Given the description of an element on the screen output the (x, y) to click on. 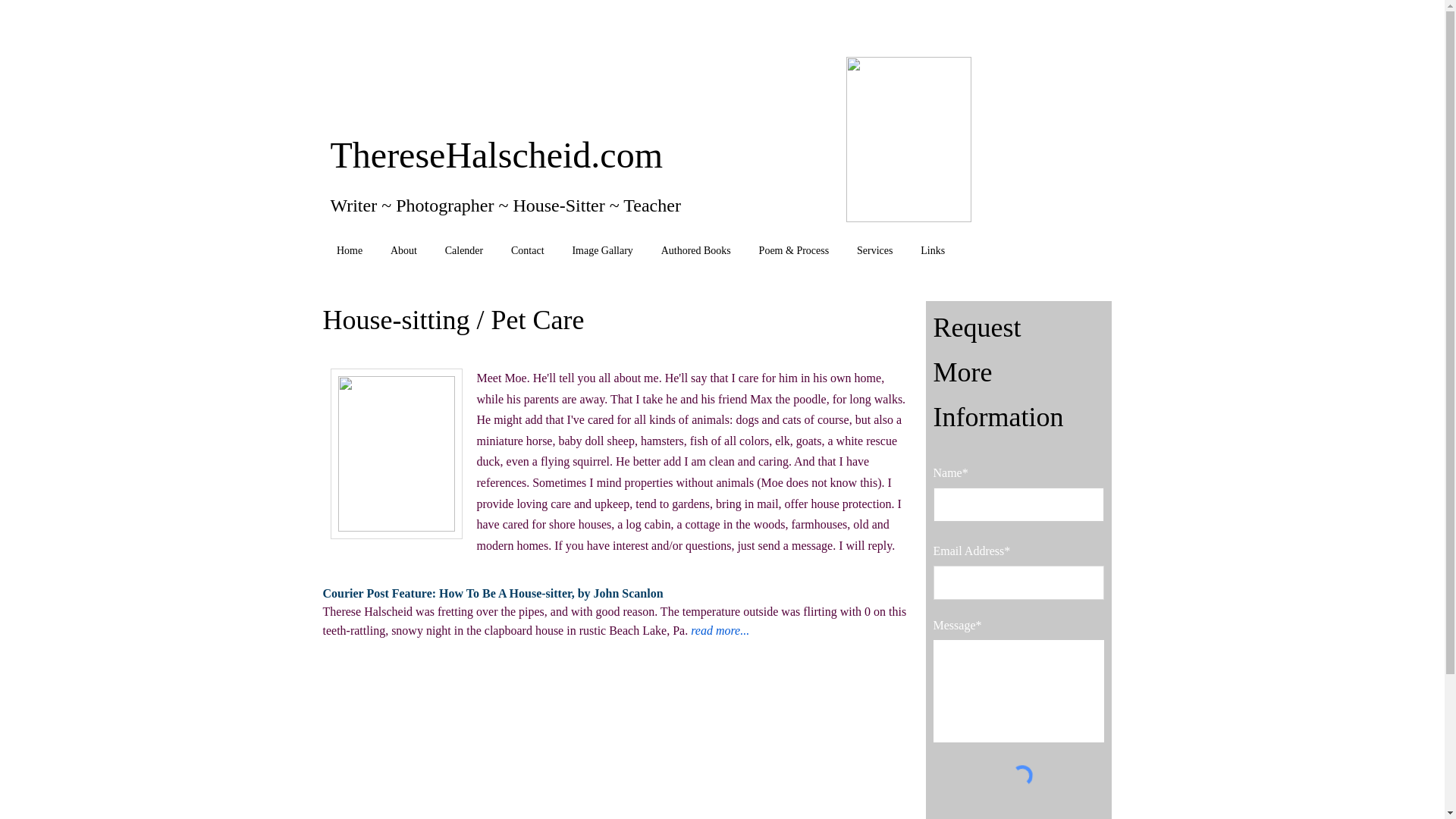
read more...  (721, 632)
Services (875, 250)
Contact (527, 250)
Links (933, 250)
Image Gallary (601, 250)
Home (350, 250)
About (403, 250)
Calender (463, 250)
Authored Books (695, 250)
